Given the description of an element on the screen output the (x, y) to click on. 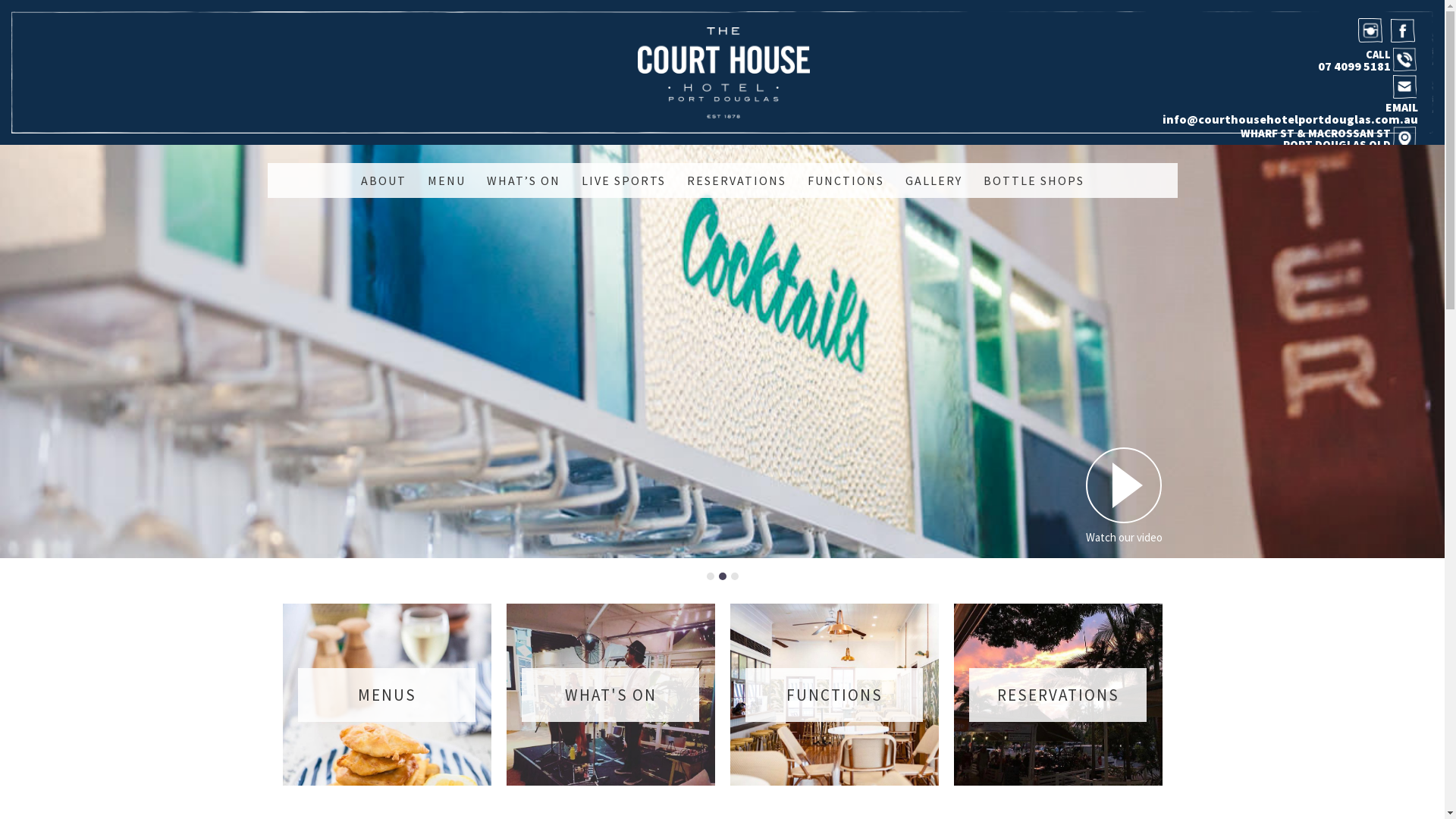
LIVE SPORTS Element type: text (622, 180)
ABOUT Element type: text (383, 180)
GALLERY Element type: text (933, 180)
RESERVATIONS Element type: text (1057, 694)
FUNCTIONS Element type: text (844, 180)
MENUS Element type: text (386, 694)
RESERVATIONS Element type: text (736, 180)
Watch our video Element type: text (1123, 494)
WHAT'S ON Element type: text (610, 694)
BOTTLE SHOPS Element type: text (1032, 180)
MENU Element type: text (446, 180)
FUNCTIONS Element type: text (833, 694)
